Given the description of an element on the screen output the (x, y) to click on. 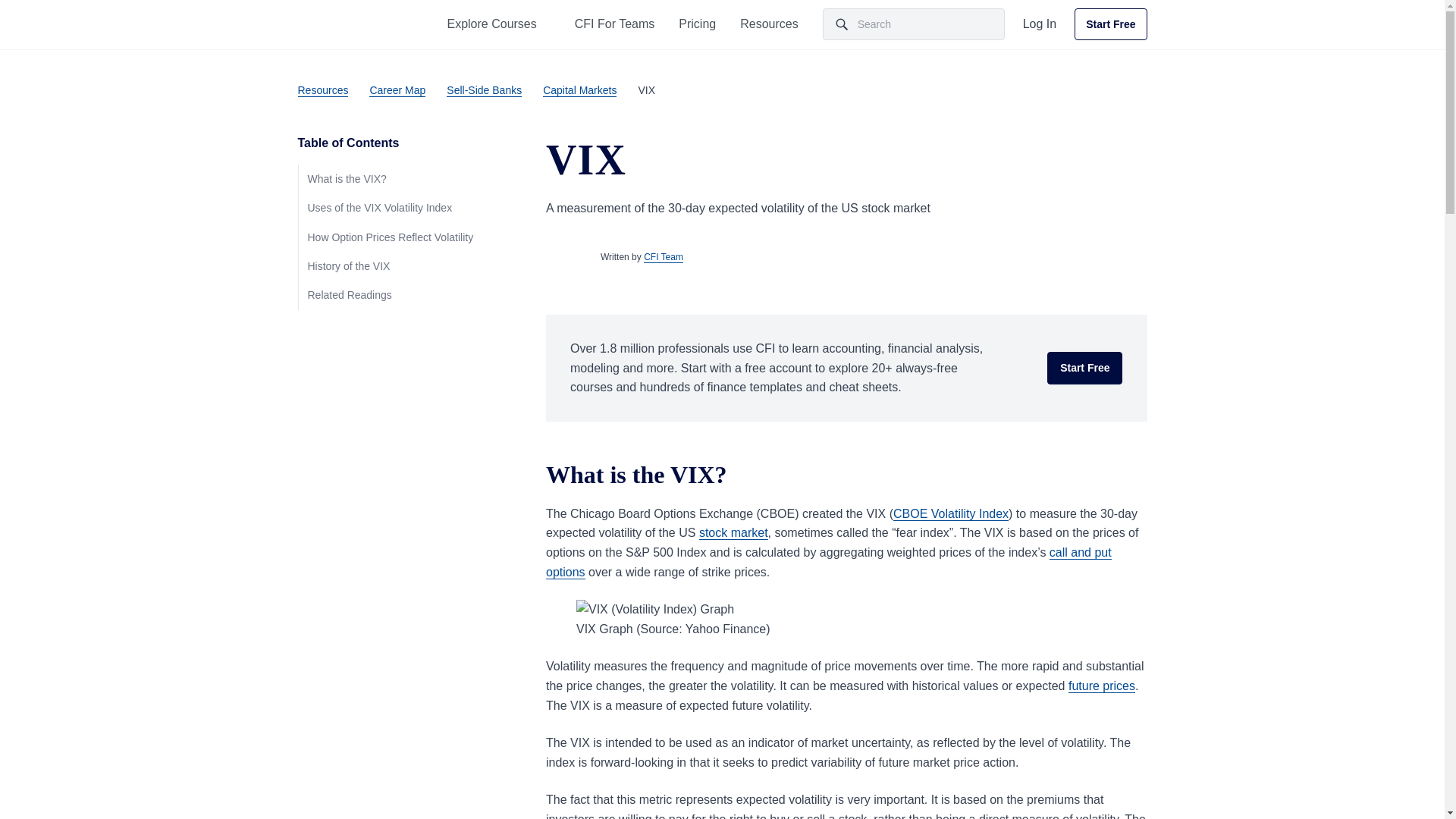
Go to the Career Map Resource Type archives. (397, 89)
Go to the Sell-Side Banks Resource Type archives. (483, 89)
Go to Resources. (322, 89)
Go to the Capital Markets Resource Type archives. (579, 89)
Corporate Finance Institute (337, 23)
